Given the description of an element on the screen output the (x, y) to click on. 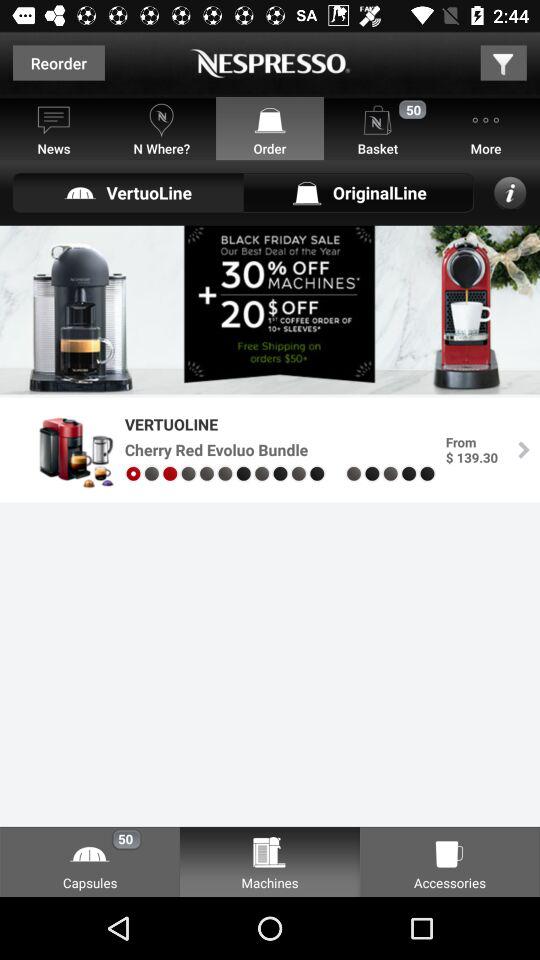
click on icon  with i (510, 192)
button left to the header text (58, 62)
image icon left to the text vertuoline (65, 450)
select the option named as accessories (450, 861)
